Given the description of an element on the screen output the (x, y) to click on. 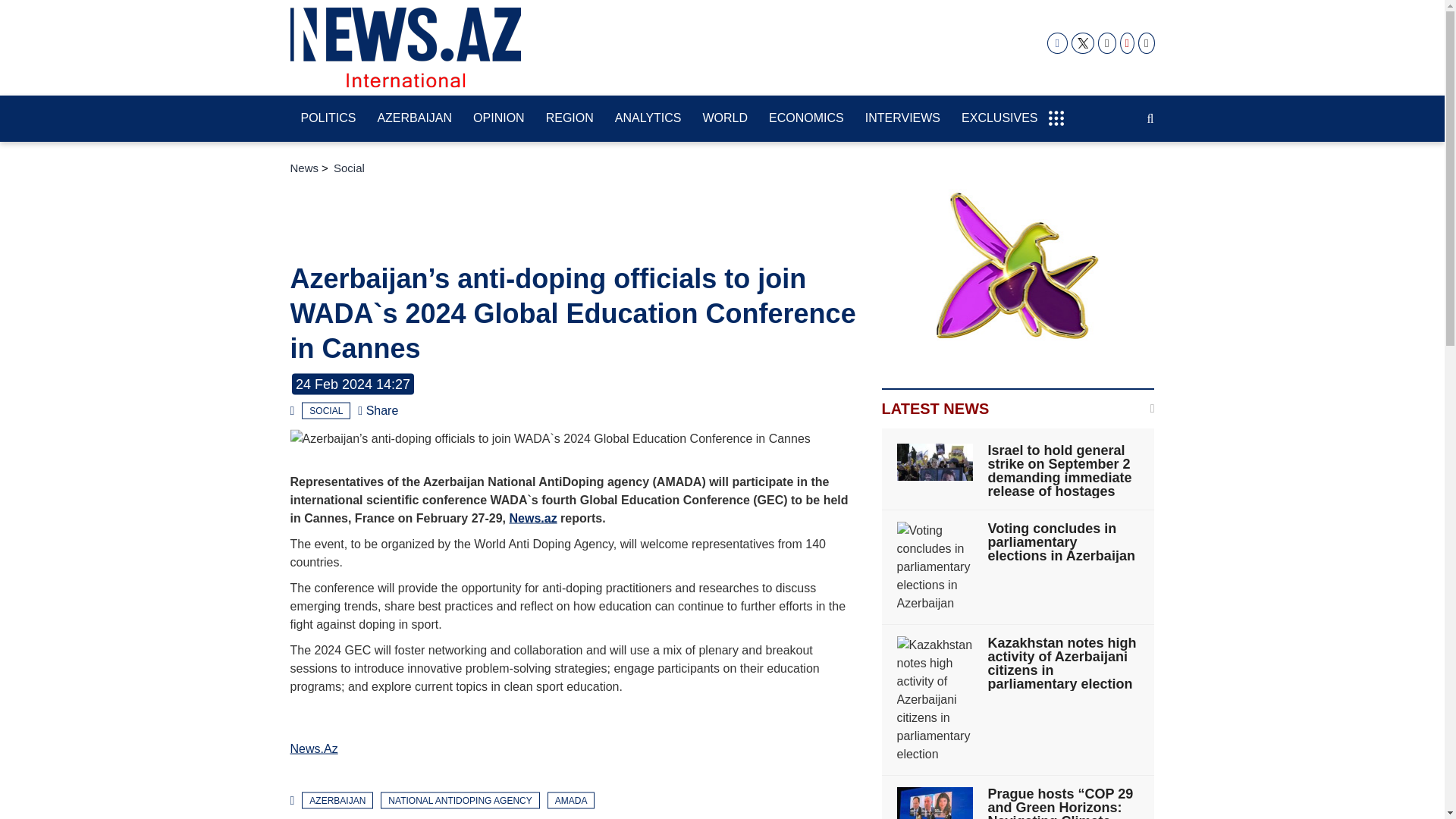
News.az (404, 47)
News (303, 167)
ECONOMICS (806, 119)
OPINION (499, 119)
24 Feb 2024 14:27 (352, 384)
POLITICS (327, 119)
News.Az (313, 748)
AMADA (571, 799)
Menu (1056, 110)
INTERVIEWS (902, 119)
